Given the description of an element on the screen output the (x, y) to click on. 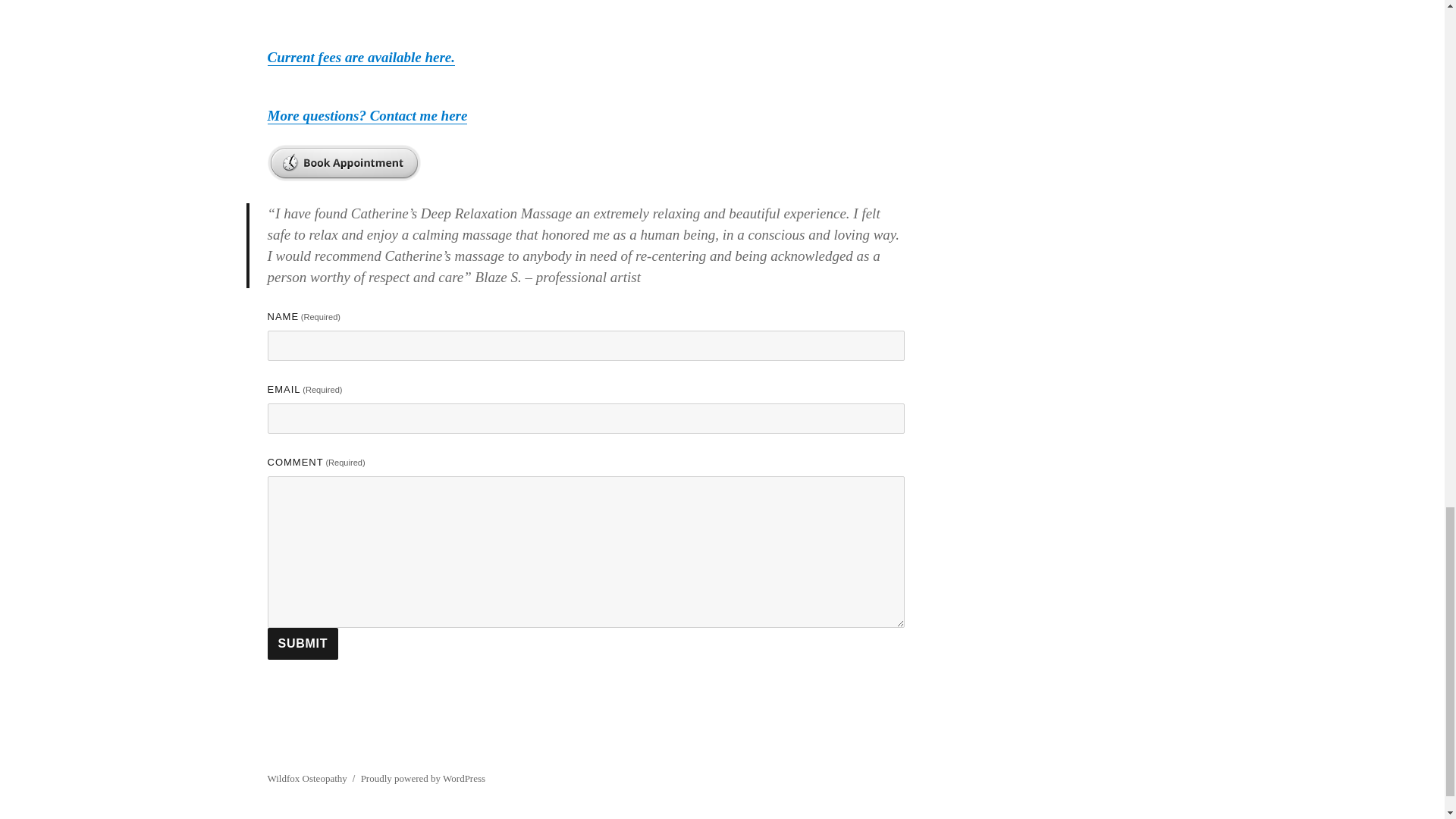
SUBMIT (301, 644)
Current fees are available here. (360, 57)
More questions? Contact me here (366, 115)
